Given the description of an element on the screen output the (x, y) to click on. 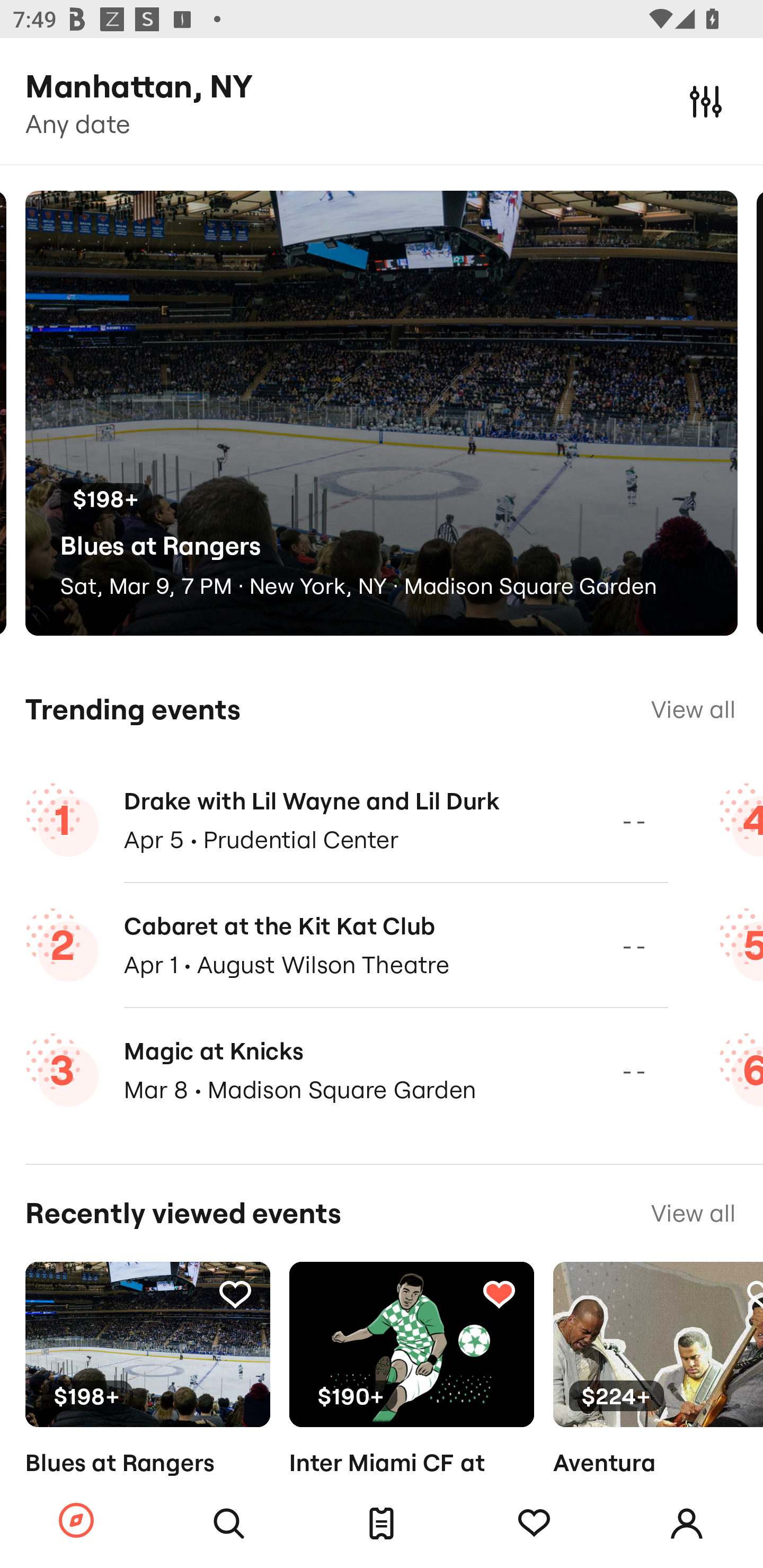
Filters (705, 100)
View all (693, 709)
View all (693, 1213)
Tracking $198+ Blues at Rangers Sat, Mar 9, 7 PM (147, 1399)
Tracking $224+ Aventura Thu, May 30, 8 PM (658, 1399)
Tracking (234, 1293)
Tracking (498, 1293)
Browse (76, 1521)
Search (228, 1523)
Tickets (381, 1523)
Tracking (533, 1523)
Account (686, 1523)
